Given the description of an element on the screen output the (x, y) to click on. 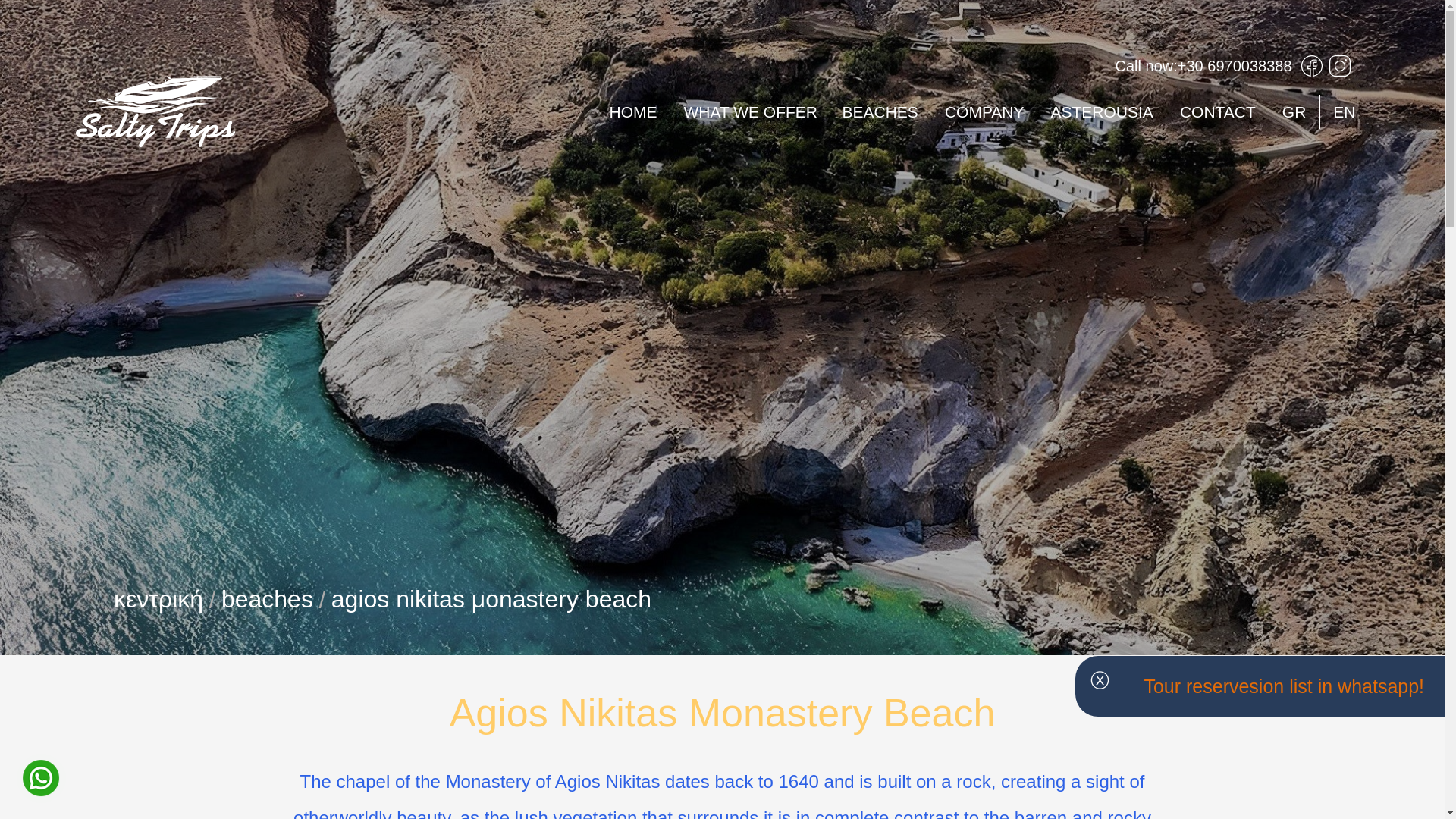
WHAT WE OFFER (748, 110)
HOME (632, 110)
ASTEROUSIA (1101, 110)
BEACHES (879, 110)
Instagram (1339, 65)
EN (1344, 110)
EXCURSIONS (748, 145)
FLEET (748, 213)
CONTACT (1217, 110)
Facebook (1313, 65)
RIDE WITHOUT A CAPTAIN (748, 179)
beaches (258, 599)
COMPANY (983, 110)
GR (1294, 110)
